Given the description of an element on the screen output the (x, y) to click on. 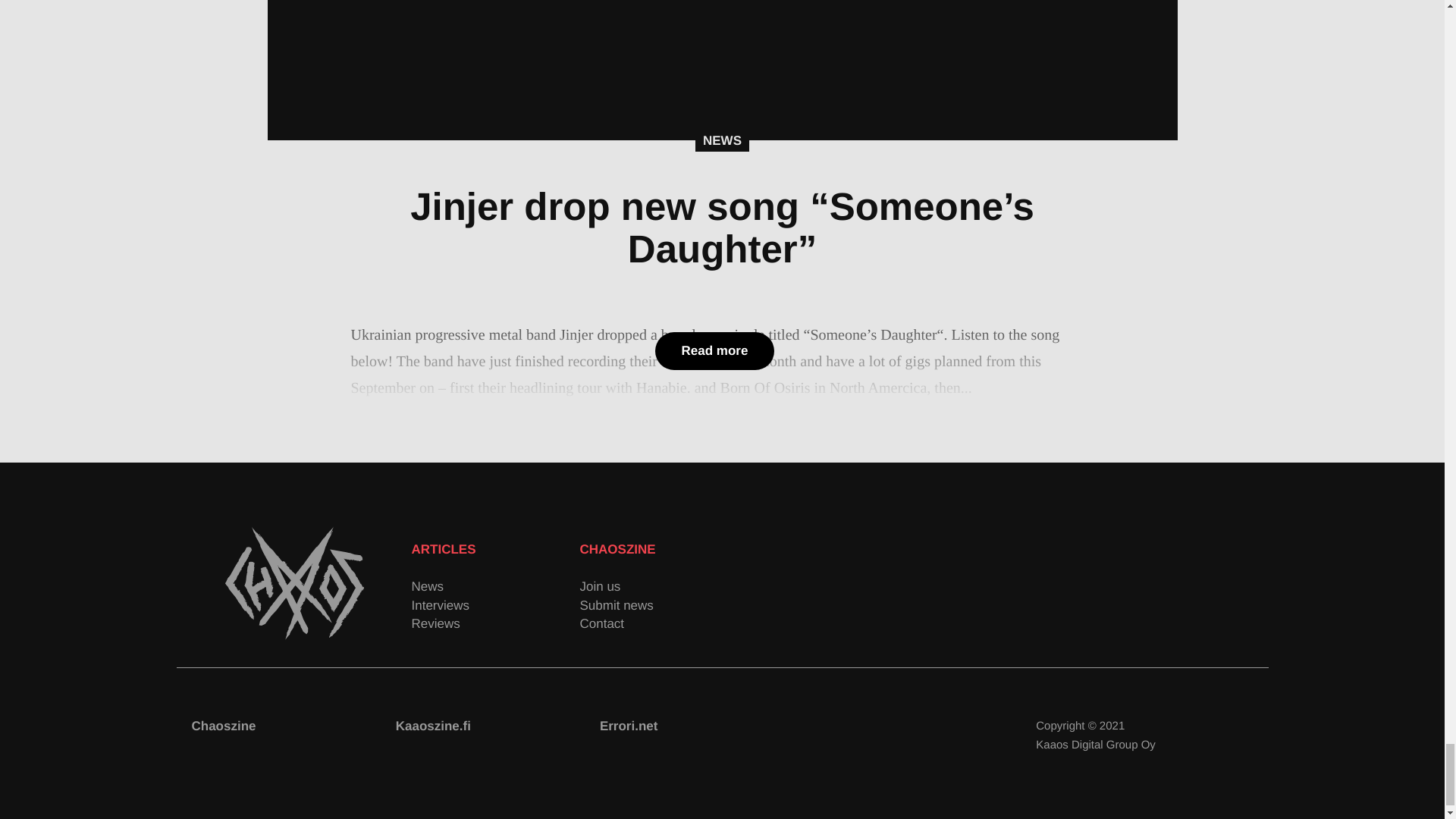
Interviews (494, 605)
News (494, 586)
NEWS (722, 140)
